Given the description of an element on the screen output the (x, y) to click on. 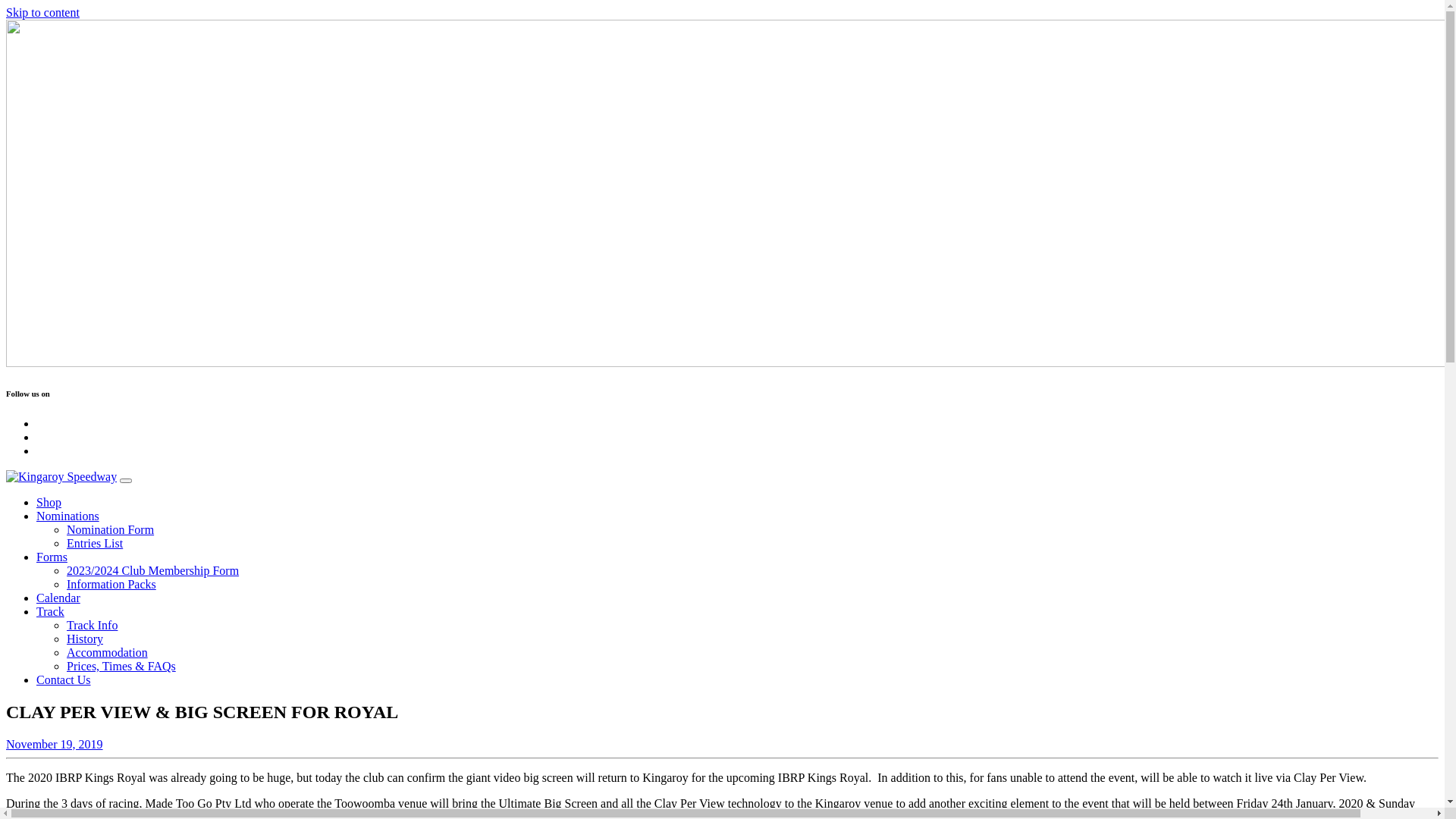
Calendar Element type: text (58, 597)
Nomination Form Element type: text (109, 529)
Prices, Times & FAQs Element type: text (120, 665)
November 19, 2019 Element type: text (54, 743)
Track Info Element type: text (91, 624)
Nominations Element type: text (67, 515)
Forms Element type: text (51, 556)
Skip to content Element type: text (42, 12)
History Element type: text (84, 638)
Entries List Element type: text (94, 542)
Accommodation Element type: text (106, 652)
Contact Us Element type: text (63, 679)
Shop Element type: text (48, 501)
Track Element type: text (50, 611)
Information Packs Element type: text (111, 583)
2023/2024 Club Membership Form Element type: text (152, 570)
